Given the description of an element on the screen output the (x, y) to click on. 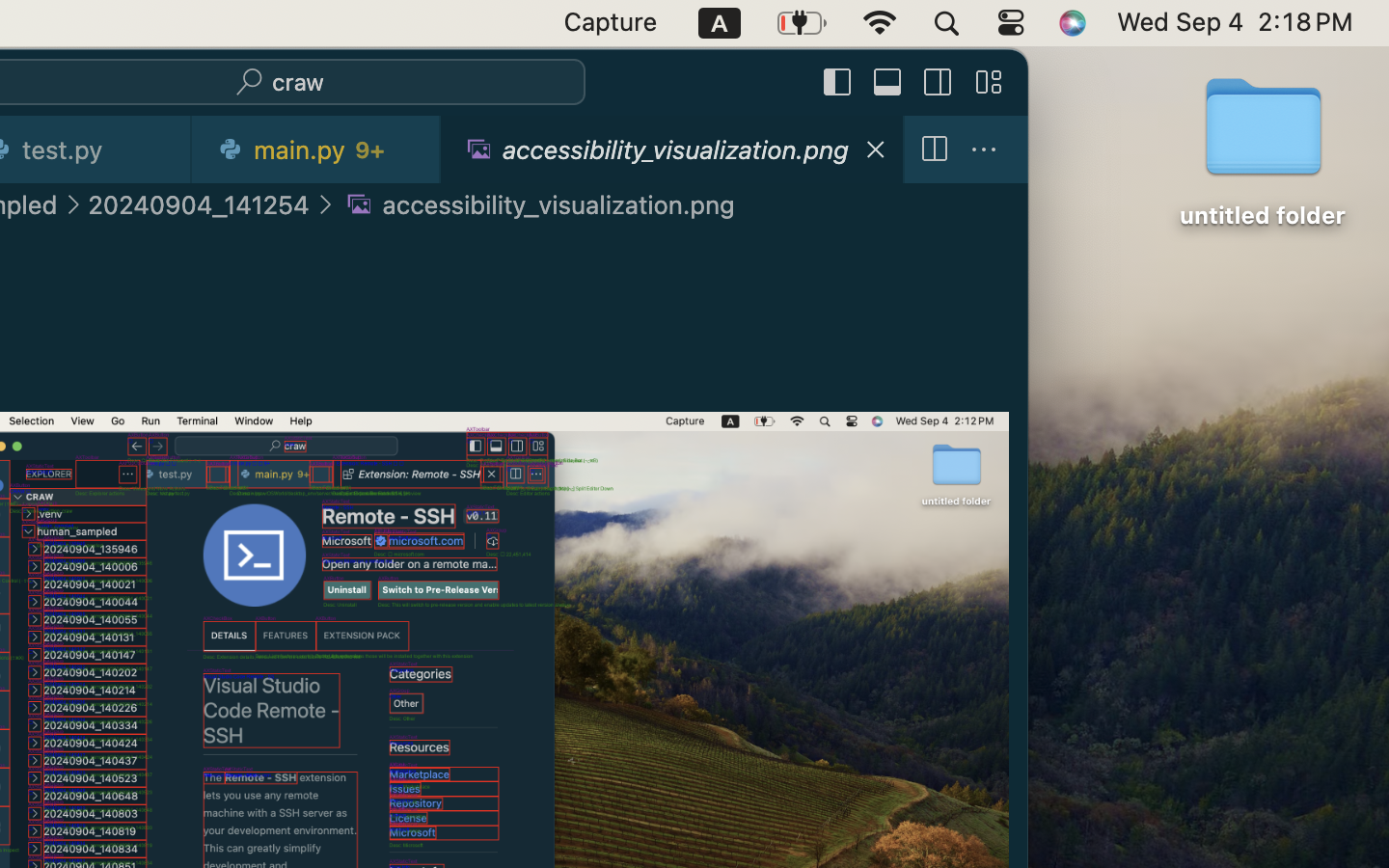
1 accessibility_visualization.png   Element type: AXRadioButton (671, 149)
 Element type: AXStaticText (324, 204)
